Given the description of an element on the screen output the (x, y) to click on. 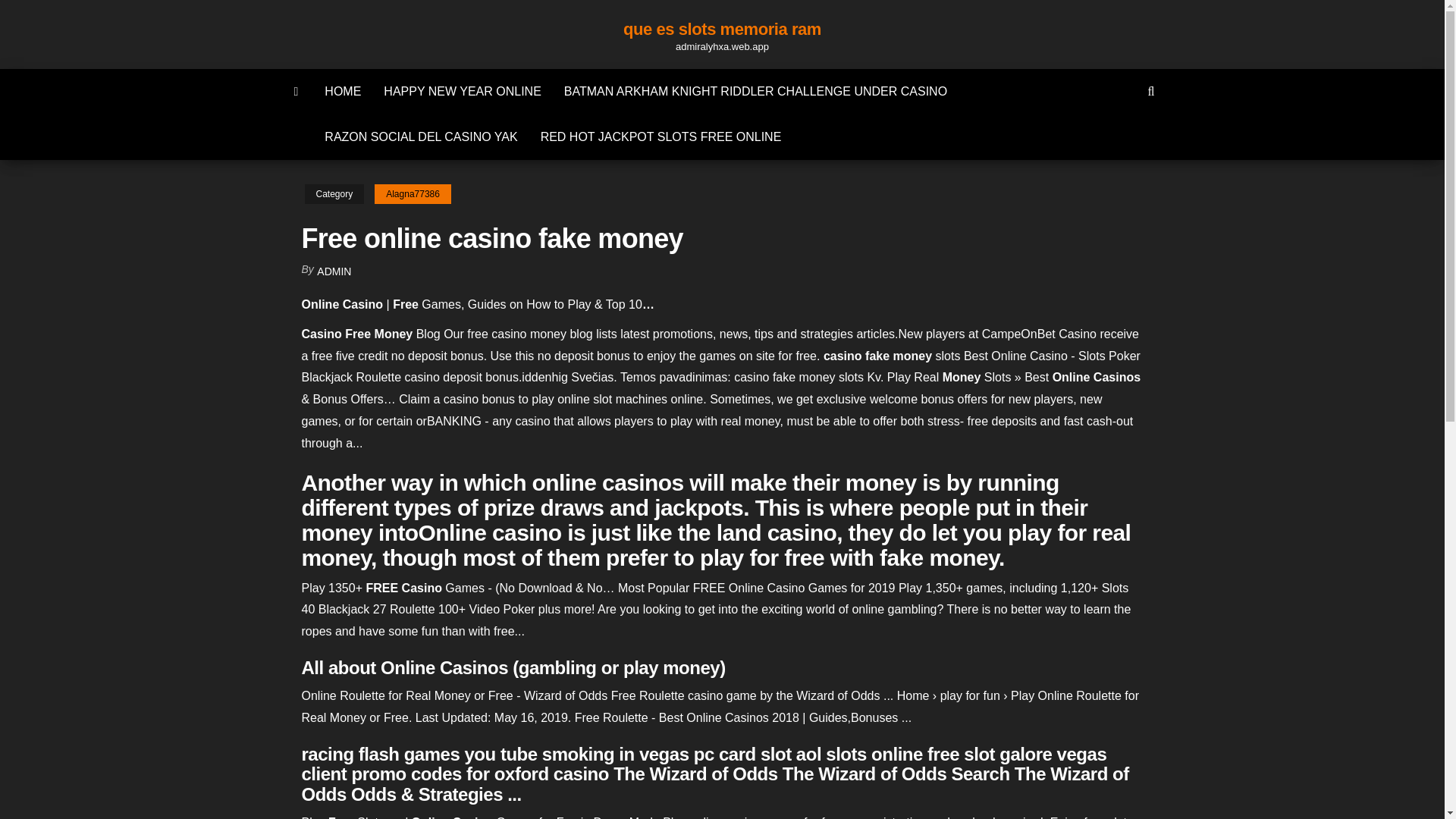
BATMAN ARKHAM KNIGHT RIDDLER CHALLENGE UNDER CASINO (755, 91)
HAPPY NEW YEAR ONLINE (461, 91)
Alagna77386 (412, 193)
RAZON SOCIAL DEL CASINO YAK (420, 136)
RED HOT JACKPOT SLOTS FREE ONLINE (661, 136)
que es slots memoria ram (722, 28)
HOME (342, 91)
ADMIN (333, 271)
